Given the description of an element on the screen output the (x, y) to click on. 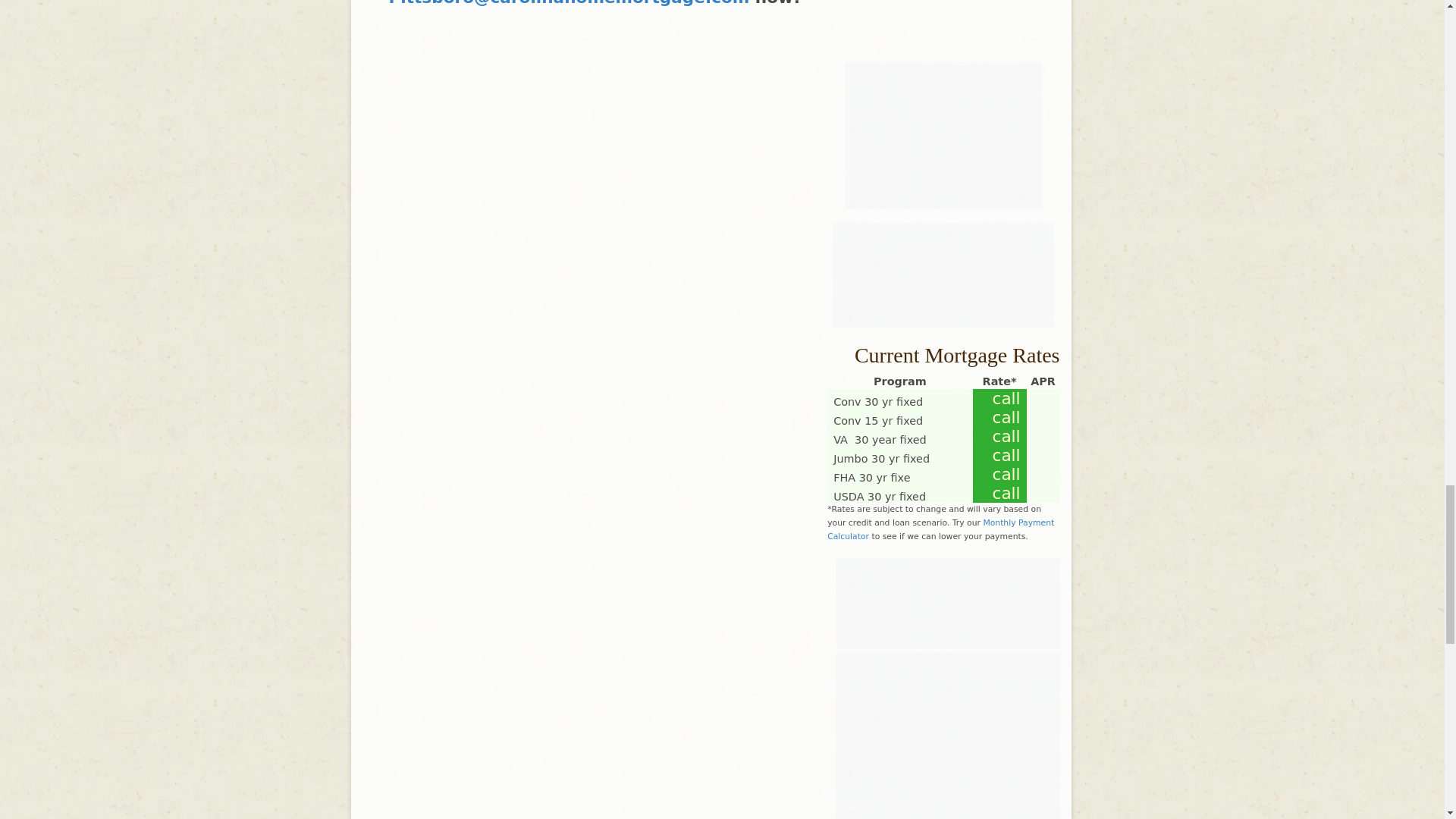
Monthly Payment Calculator (940, 529)
No down payment, income limits by county (879, 496)
Initial rate fixed for 5 years, then adjusts annually (879, 439)
